Given the description of an element on the screen output the (x, y) to click on. 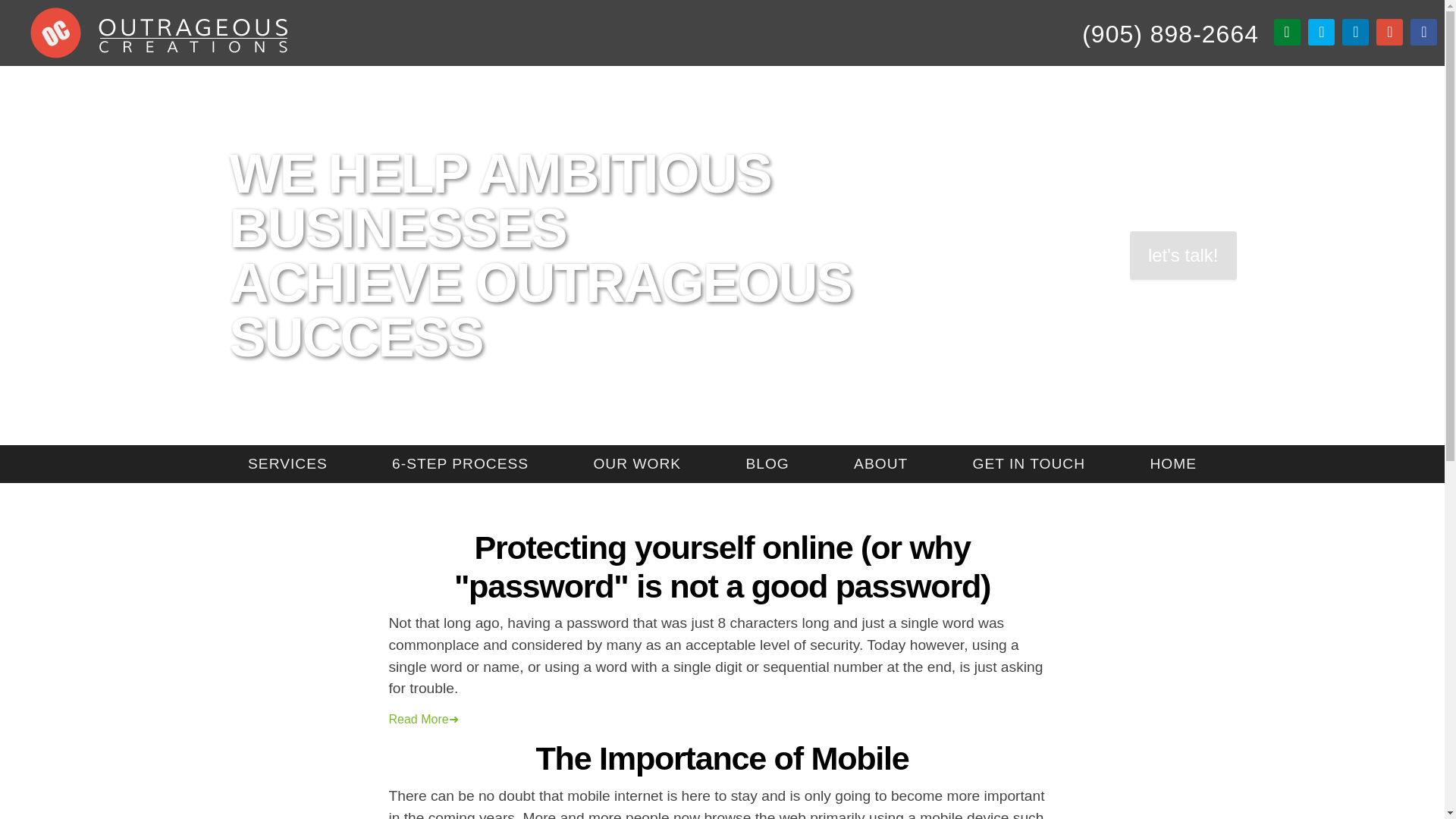
6-STEP PROCESS (460, 464)
HOME (1173, 464)
ABOUT (880, 464)
SERVICES (287, 464)
GET IN TOUCH (1028, 464)
let's talk! (1182, 255)
OUR WORK (636, 464)
BLOG (766, 464)
The Importance of Mobile (721, 758)
